Given the description of an element on the screen output the (x, y) to click on. 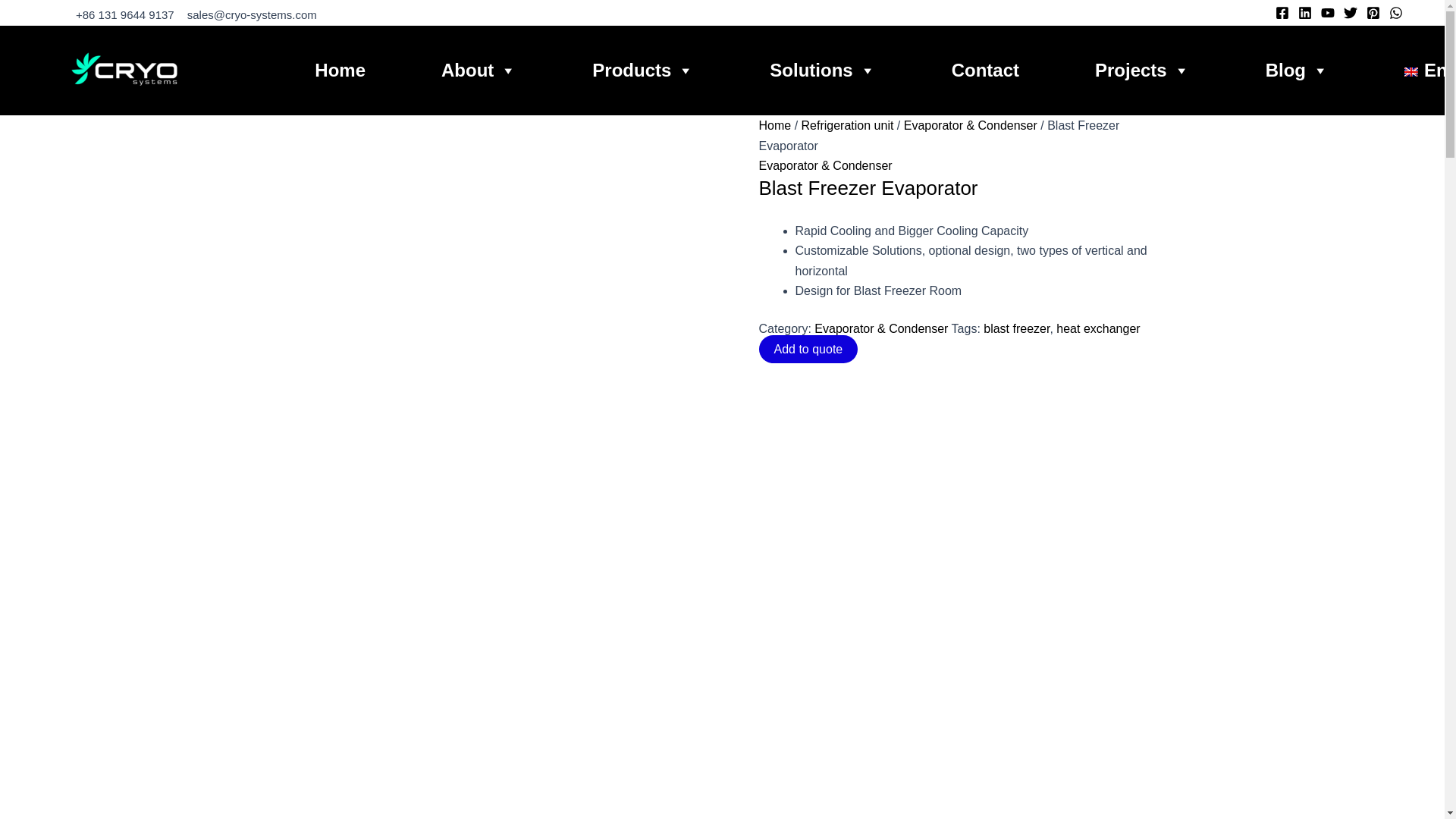
English (1430, 70)
Solutions (822, 70)
Products (643, 70)
About (478, 70)
Home (339, 70)
